Given the description of an element on the screen output the (x, y) to click on. 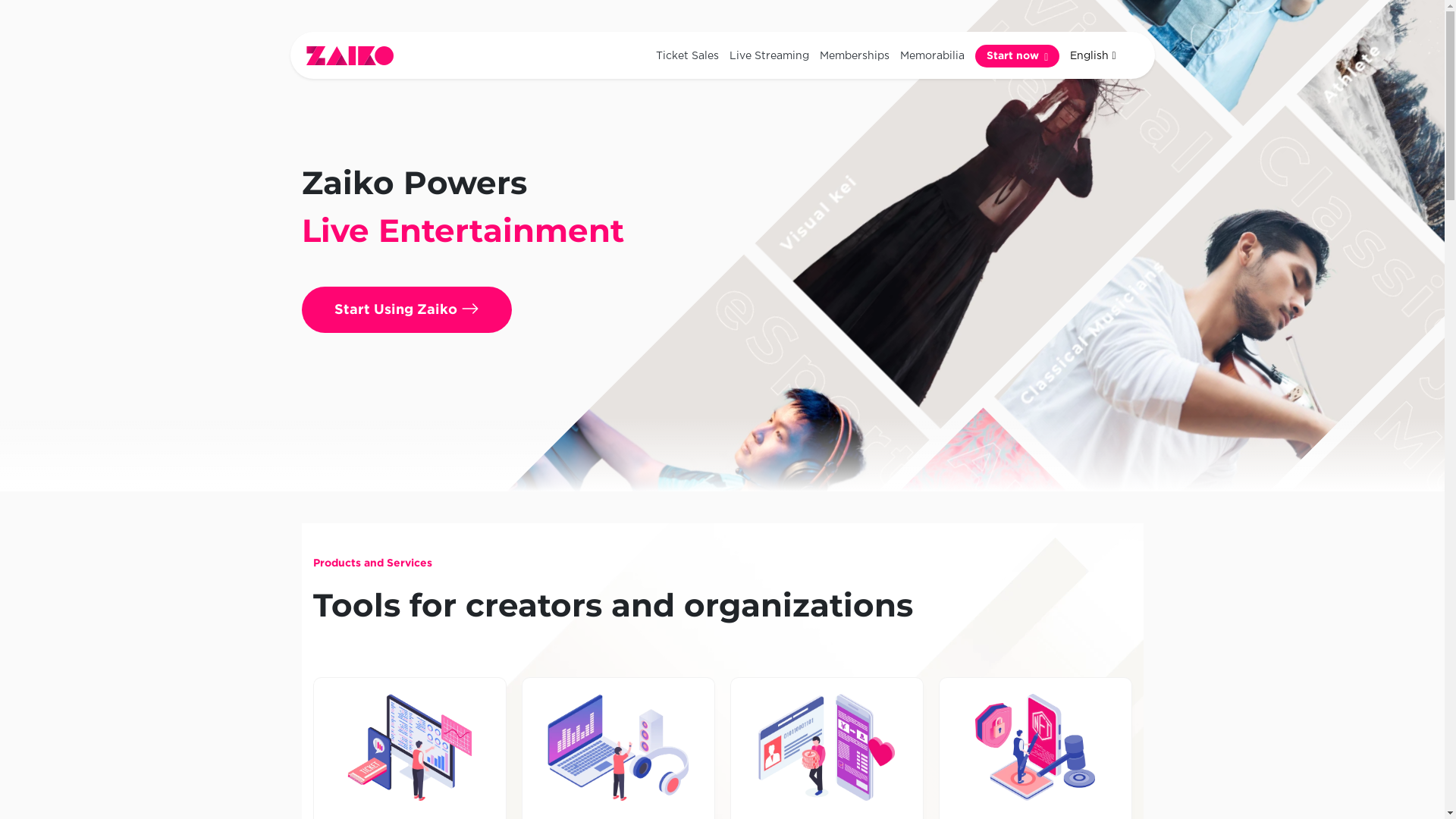
English Element type: text (1092, 55)
Memberships Element type: text (854, 55)
Memorabilia Element type: text (931, 55)
Ticket Sales Element type: text (687, 55)
Start Using Zaiko Element type: text (406, 309)
ZAIKO Logo Element type: hover (350, 55)
Live Streaming Element type: text (769, 55)
Start now Element type: text (1017, 54)
